Given the description of an element on the screen output the (x, y) to click on. 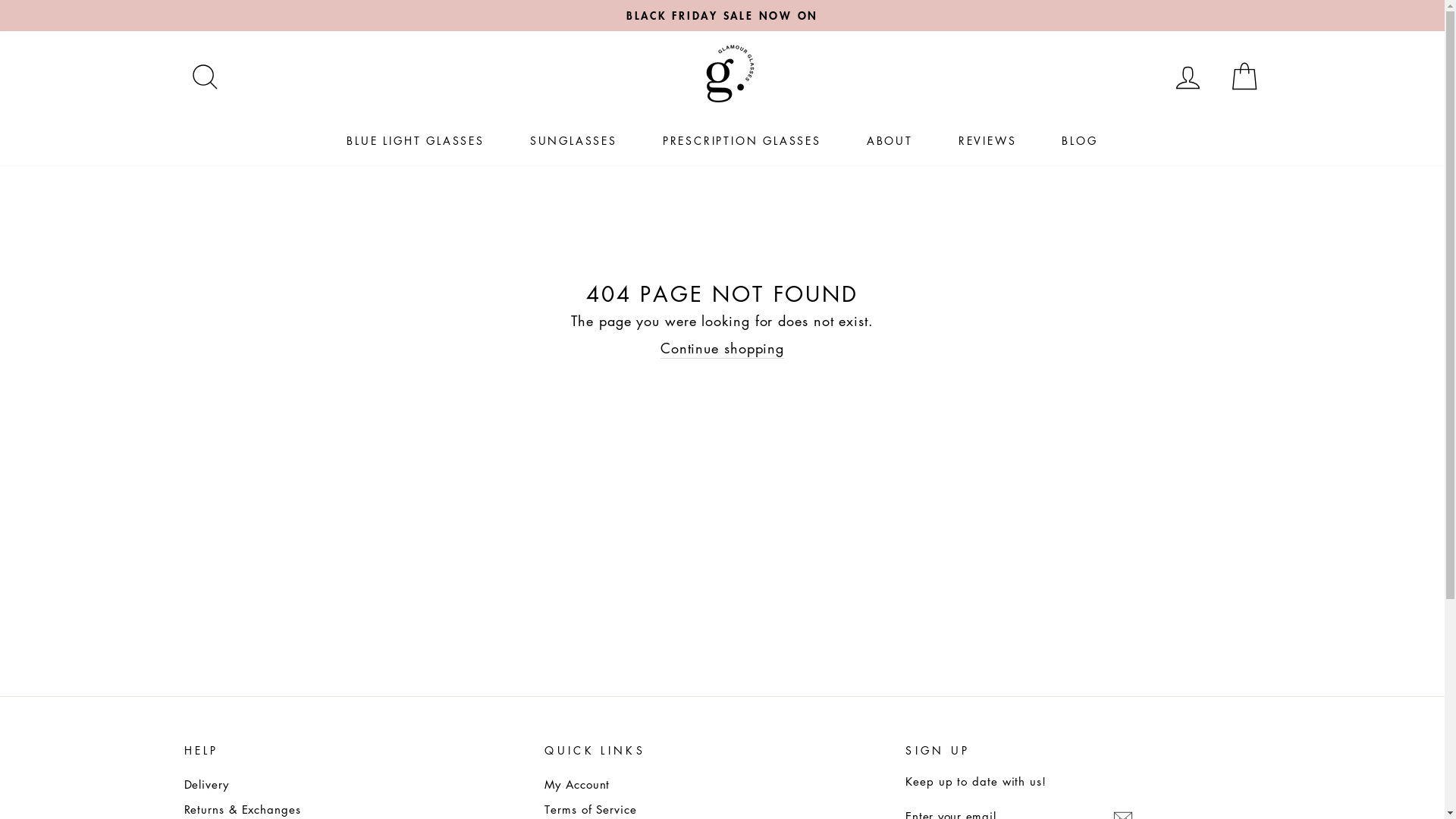
My Account Element type: text (576, 784)
BLOG Element type: text (1079, 141)
Continue shopping Element type: text (722, 348)
Delivery Element type: text (205, 784)
ABOUT Element type: text (889, 141)
BLUE LIGHT GLASSES Element type: text (415, 141)
REVIEWS Element type: text (987, 141)
BLACK FRIDAY SALE NOW ON Element type: text (722, 15)
CART Element type: text (1241, 76)
SUNGLASSES Element type: text (573, 141)
LOG IN Element type: text (1185, 76)
PRESCRIPTION GLASSES Element type: text (741, 141)
SEARCH Element type: text (202, 76)
